Given the description of an element on the screen output the (x, y) to click on. 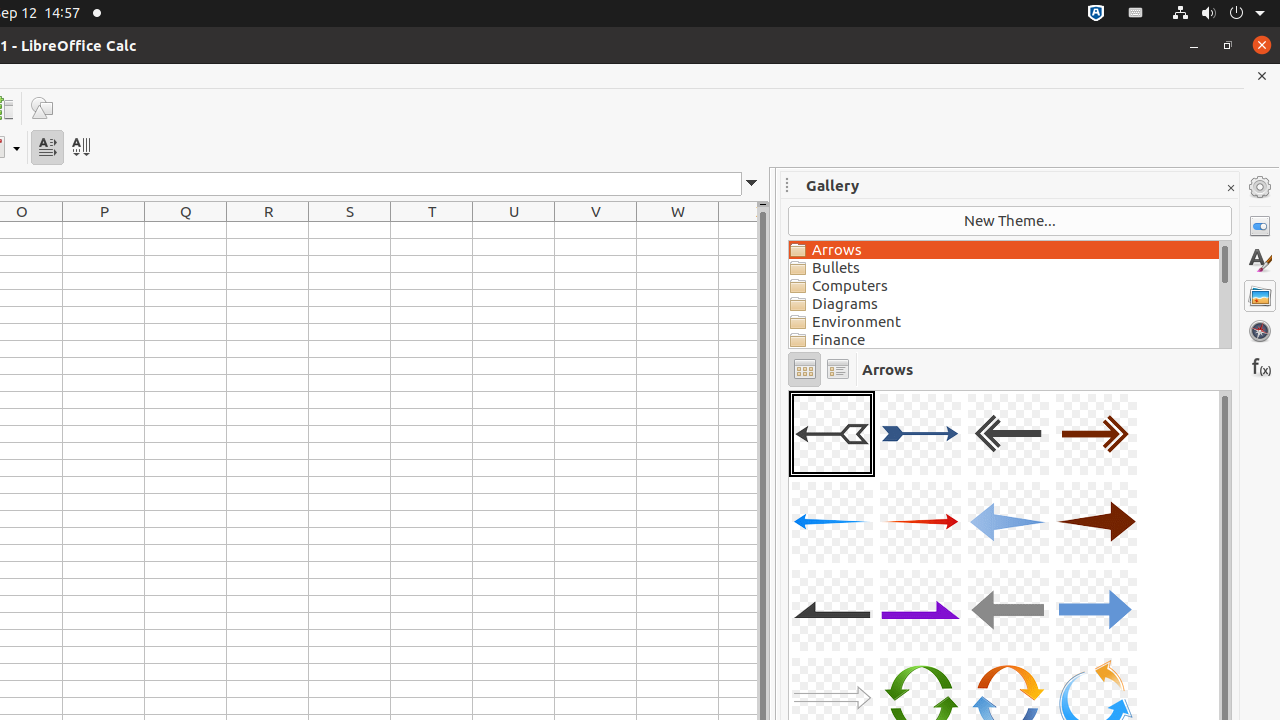
U1 Element type: table-cell (514, 230)
A12-Arrow-LightBlue-Right Element type: list-item (1096, 610)
A09-Arrow-Gray-Left Element type: list-item (832, 610)
Expand Formula Bar Element type: push-button (752, 183)
X1 Element type: table-cell (738, 230)
